Given the description of an element on the screen output the (x, y) to click on. 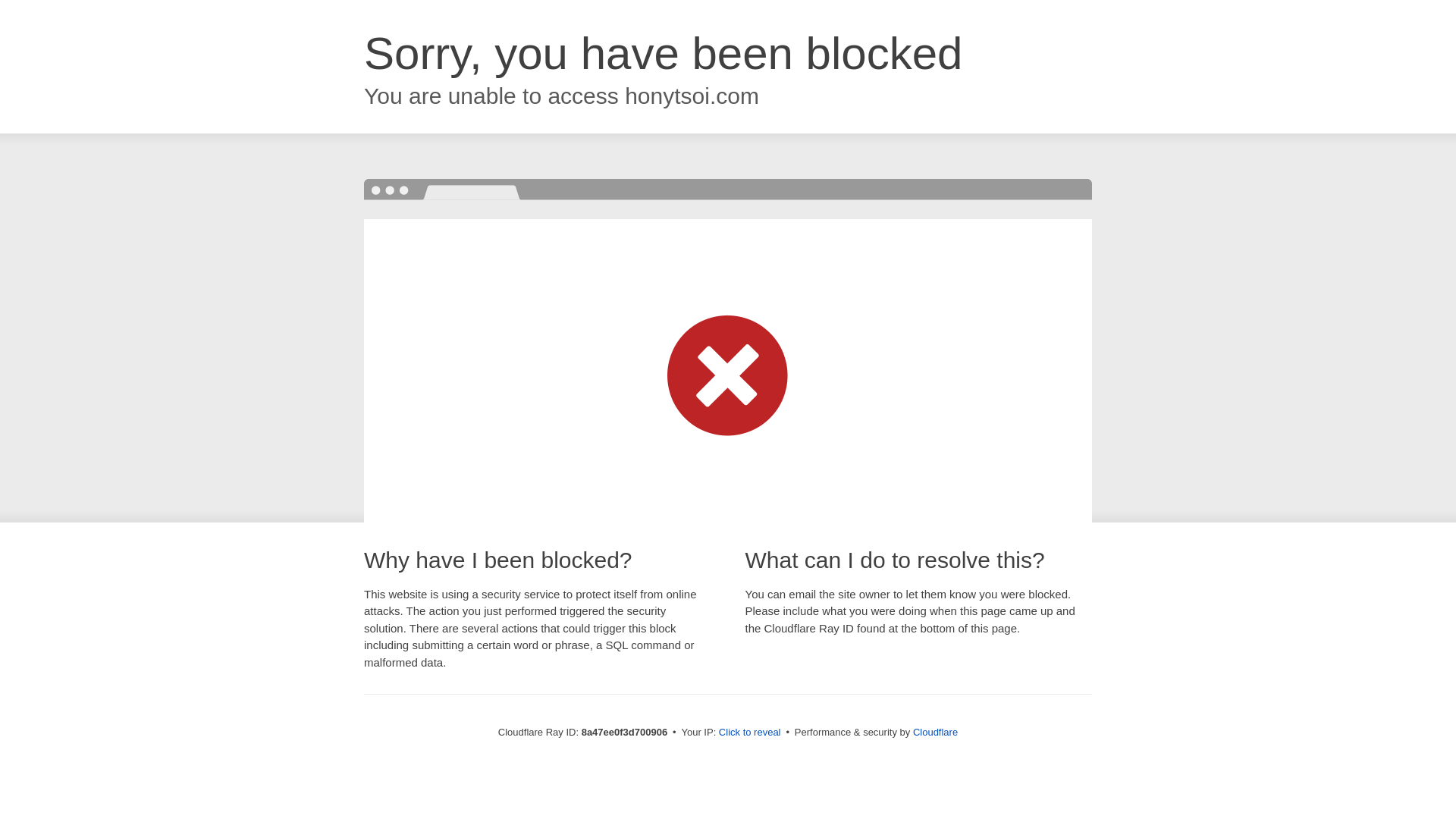
Click to reveal (749, 732)
Cloudflare (935, 731)
